Given the description of an element on the screen output the (x, y) to click on. 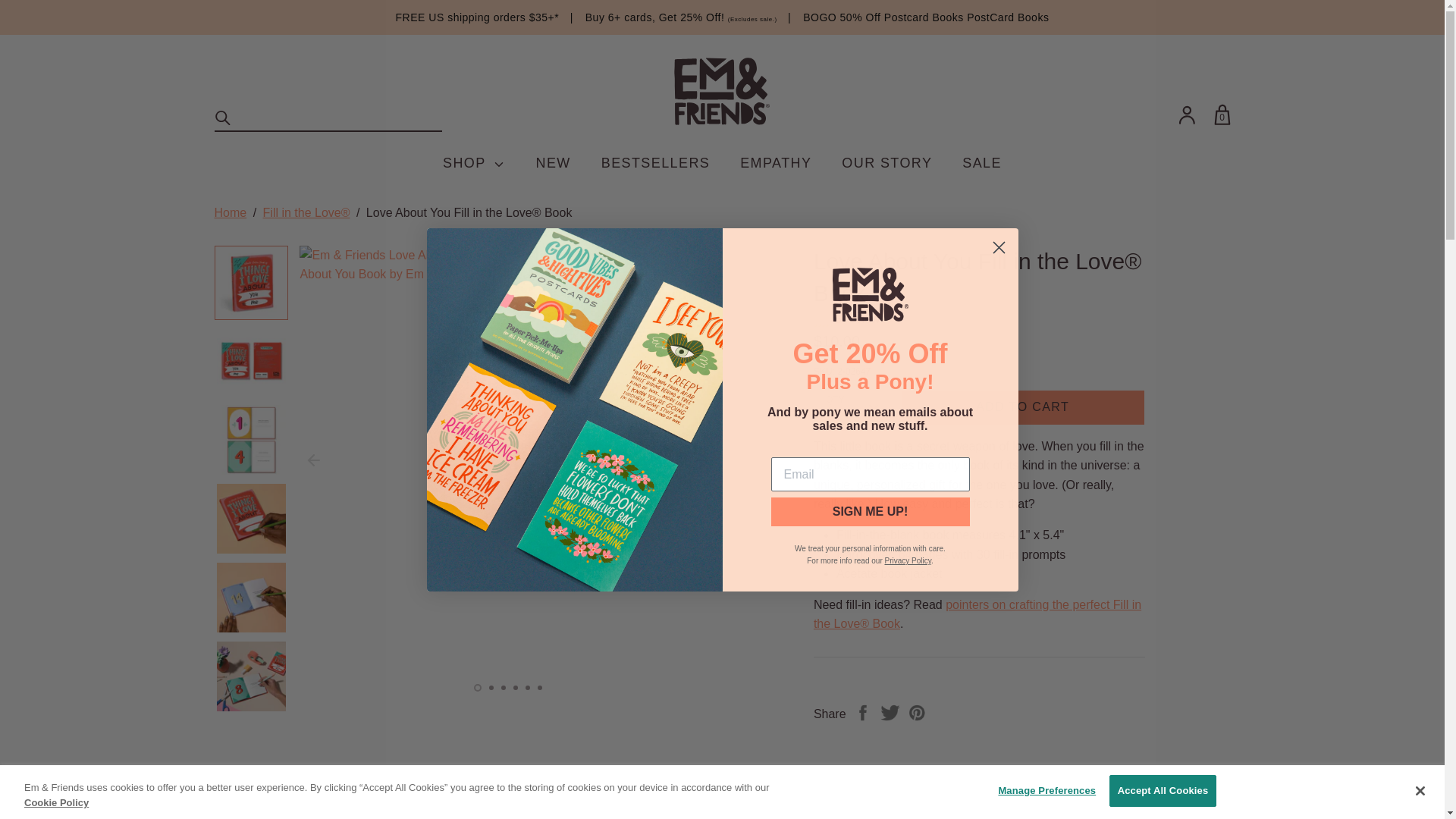
Search (222, 117)
SHOP (473, 163)
Home (230, 212)
Get Ideas for Fill in the Love Book (977, 614)
